Given the description of an element on the screen output the (x, y) to click on. 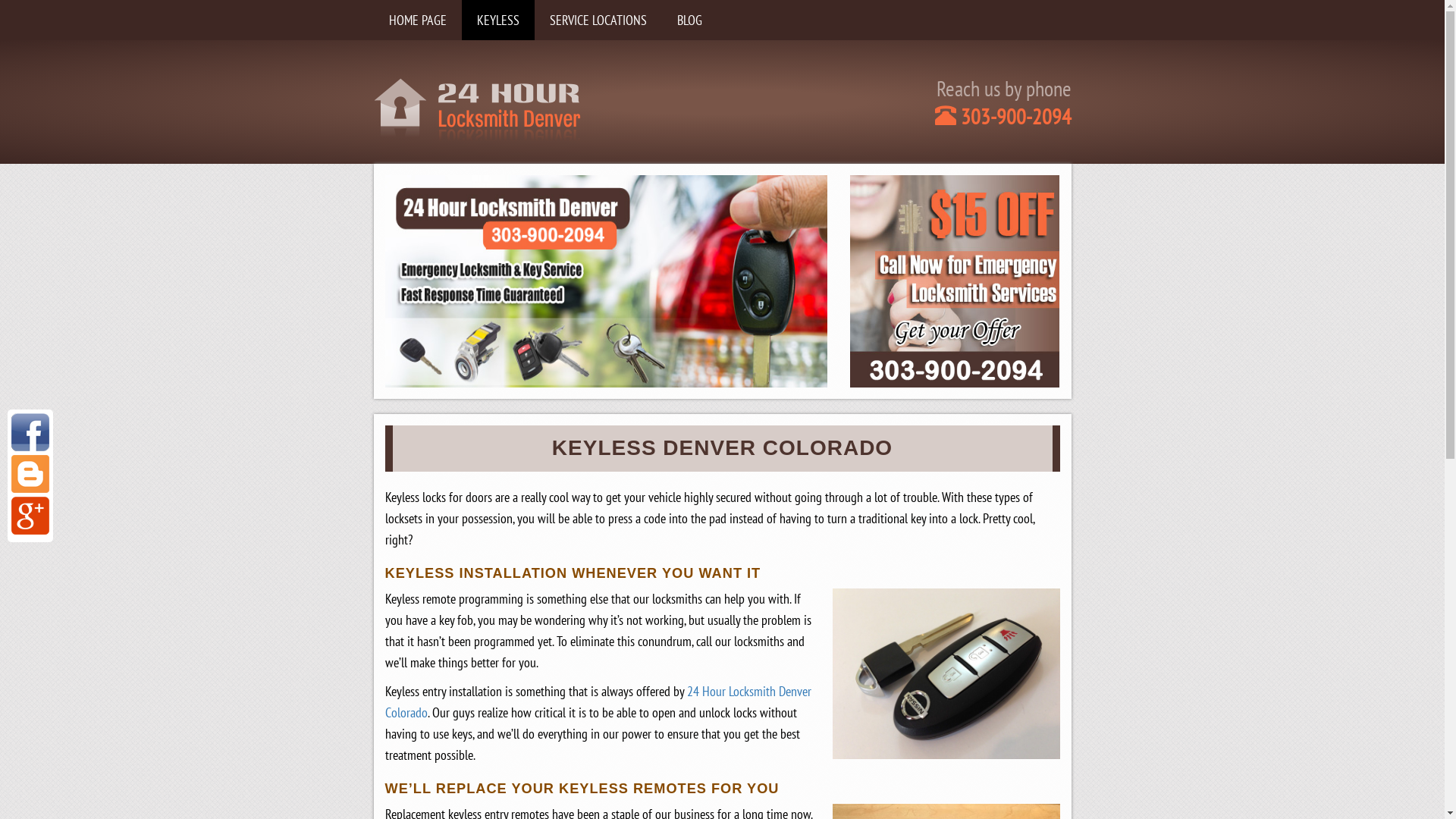
24 Hour Locksmith Denver Colorado Element type: text (598, 701)
SERVICE LOCATIONS Element type: text (597, 20)
KEYLESS Element type: text (497, 20)
24 Hour Locksmith Denver Element type: hover (476, 108)
HOME PAGE Element type: text (417, 20)
BLOG Element type: text (688, 20)
